Given the description of an element on the screen output the (x, y) to click on. 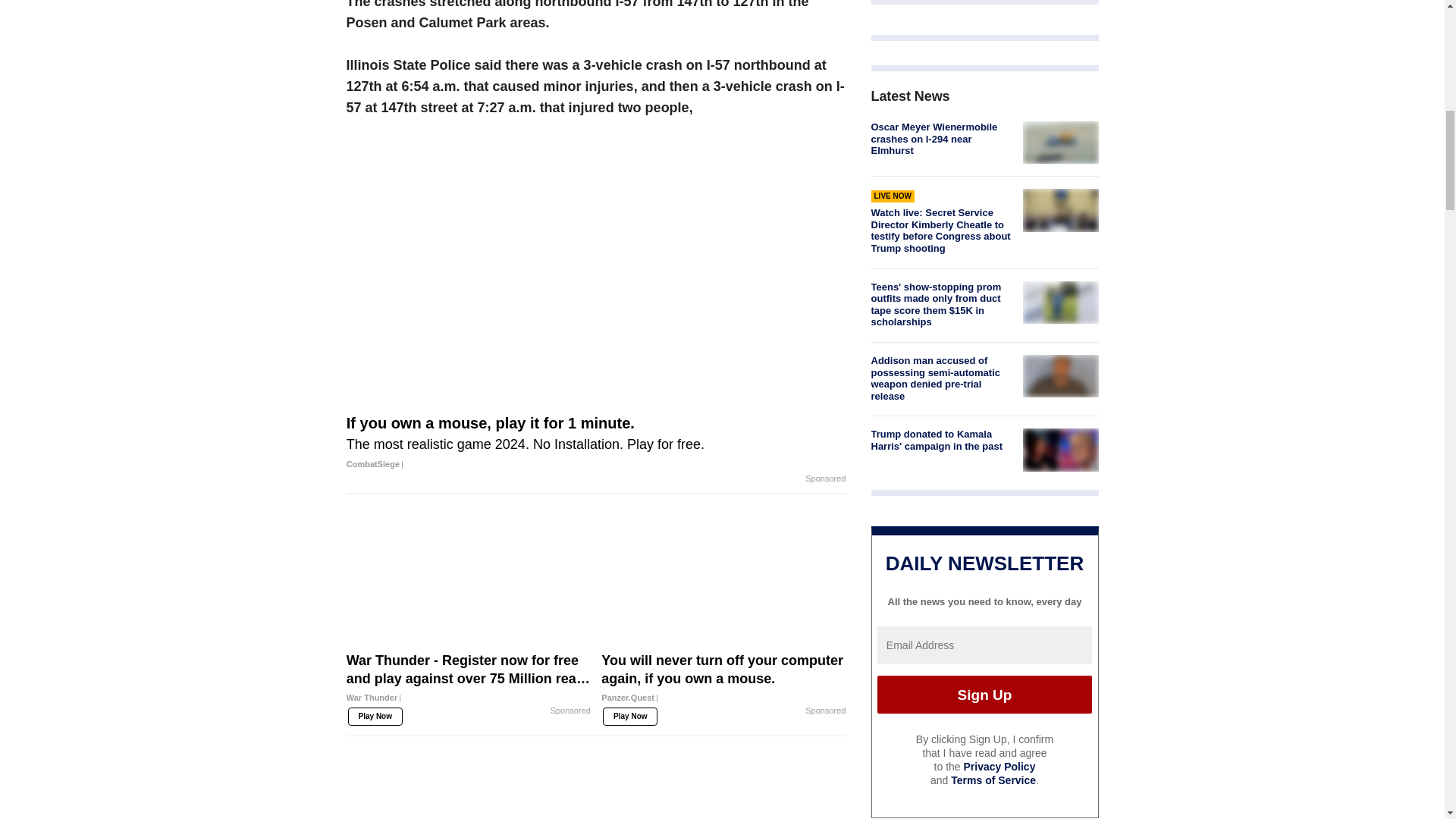
Sign Up (984, 694)
